Given the description of an element on the screen output the (x, y) to click on. 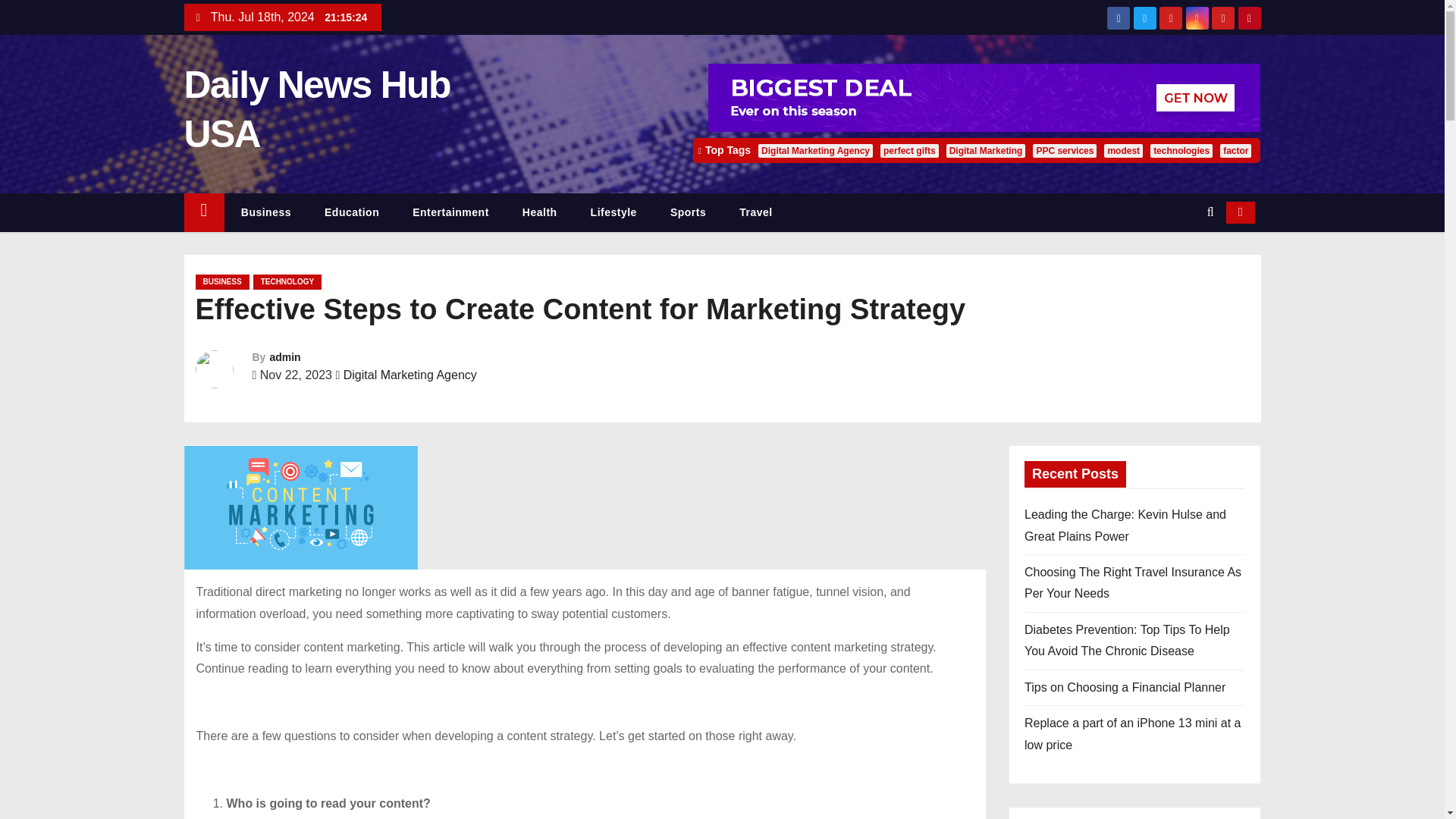
Health (539, 212)
Sports (687, 212)
Digital Marketing (986, 151)
technologies (1181, 151)
Travel (755, 212)
Digital Marketing Agency (815, 151)
PPC services (1064, 151)
Sports (687, 212)
Education (351, 212)
Entertainment (450, 212)
admin (284, 357)
Lifestyle (613, 212)
Health (539, 212)
Digital Marketing Agency (410, 374)
BUSINESS (221, 281)
